Given the description of an element on the screen output the (x, y) to click on. 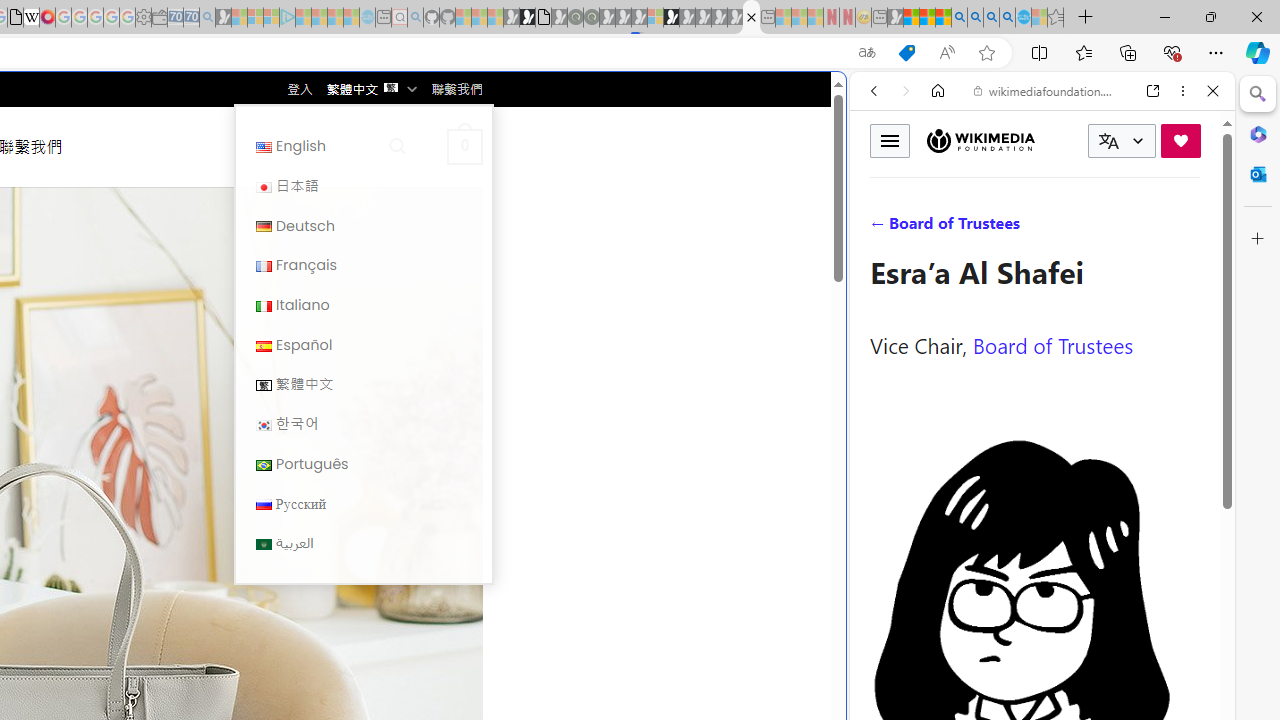
Italiano (263, 305)
 0  (464, 146)
Sign in to your account - Sleeping (655, 17)
github - Search - Sleeping (415, 17)
CURRENT LANGUAGE: (1121, 141)
